Given the description of an element on the screen output the (x, y) to click on. 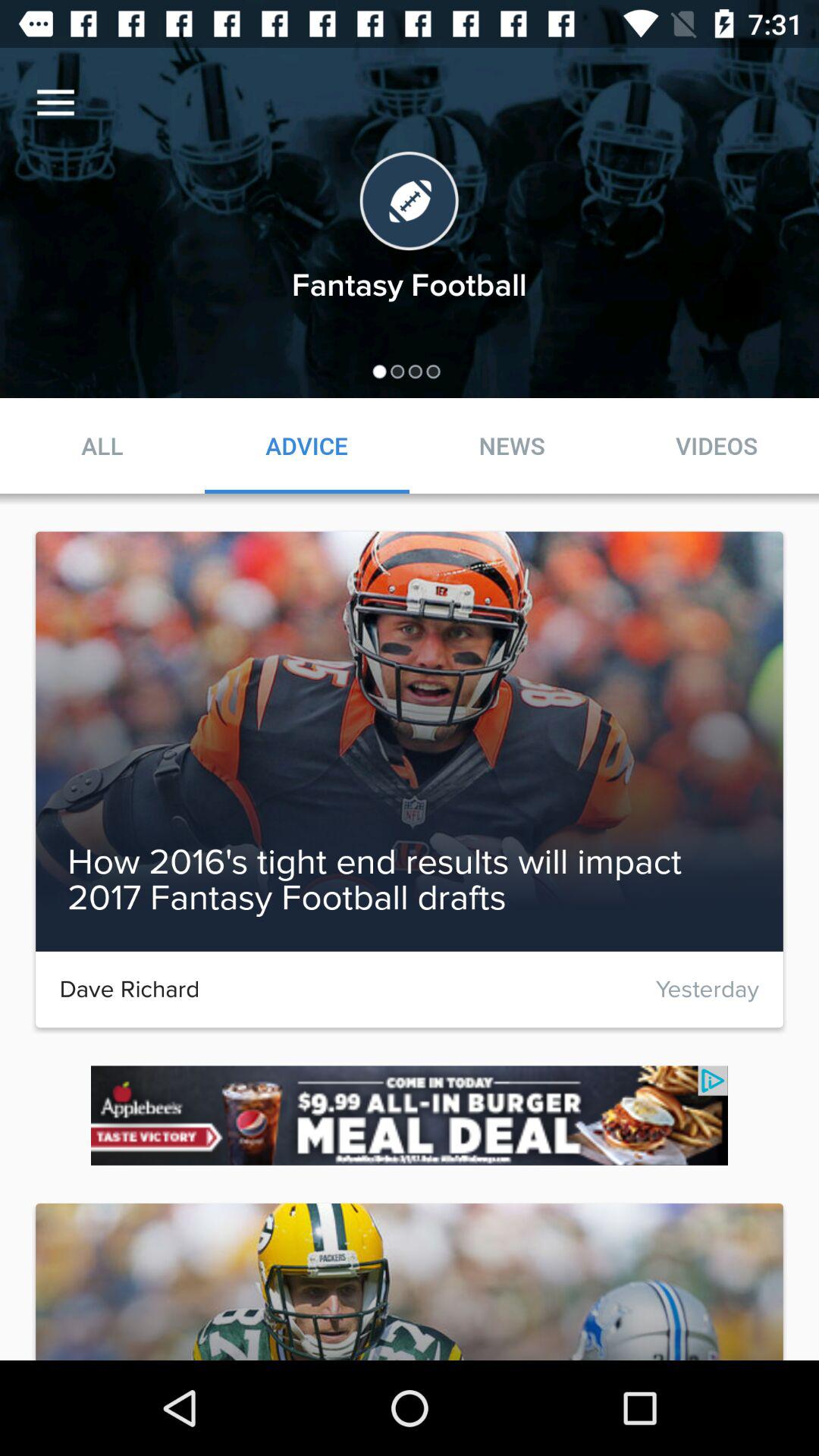
advertisement (409, 1115)
